Given the description of an element on the screen output the (x, y) to click on. 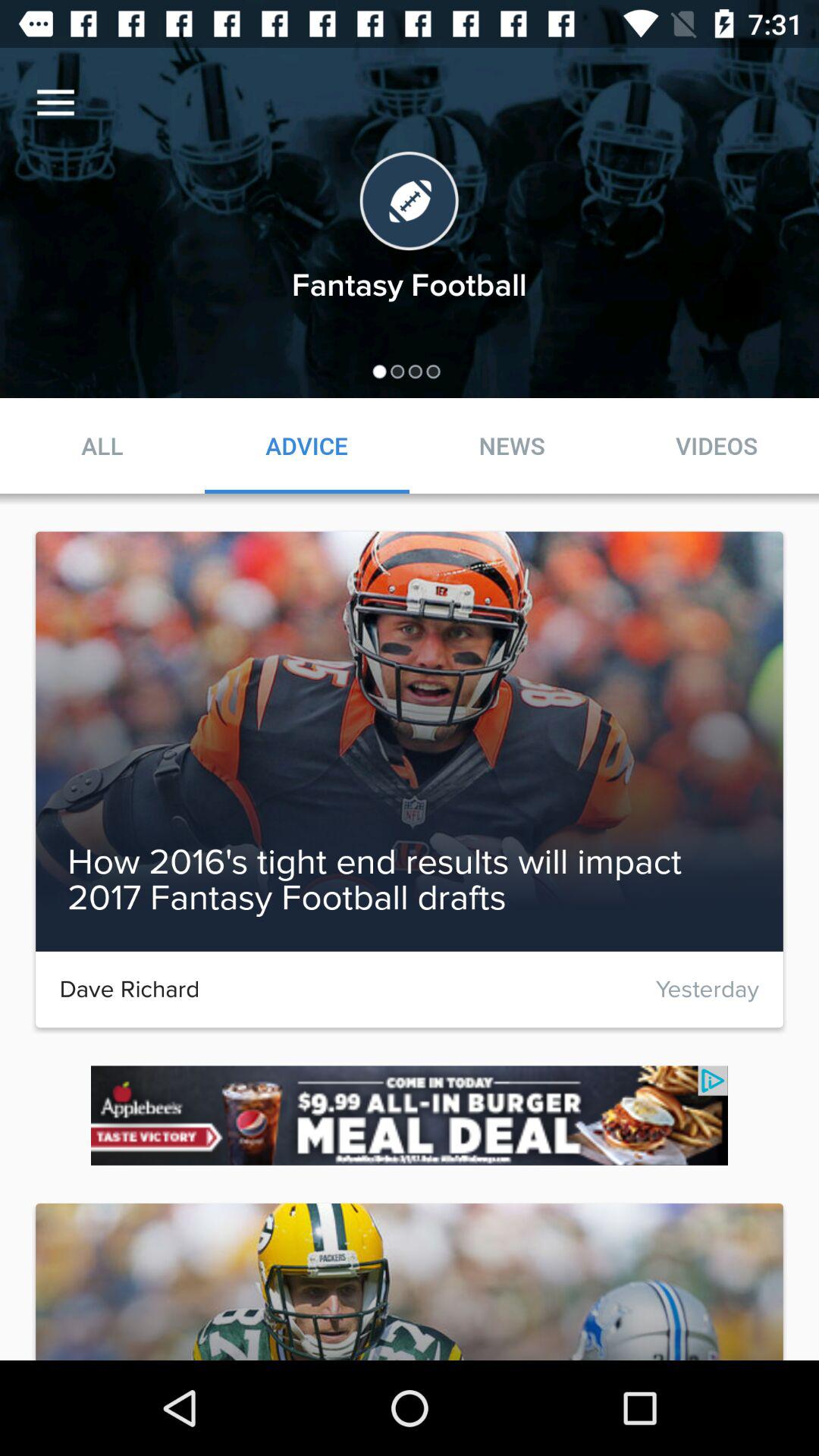
advertisement (409, 1115)
